Given the description of an element on the screen output the (x, y) to click on. 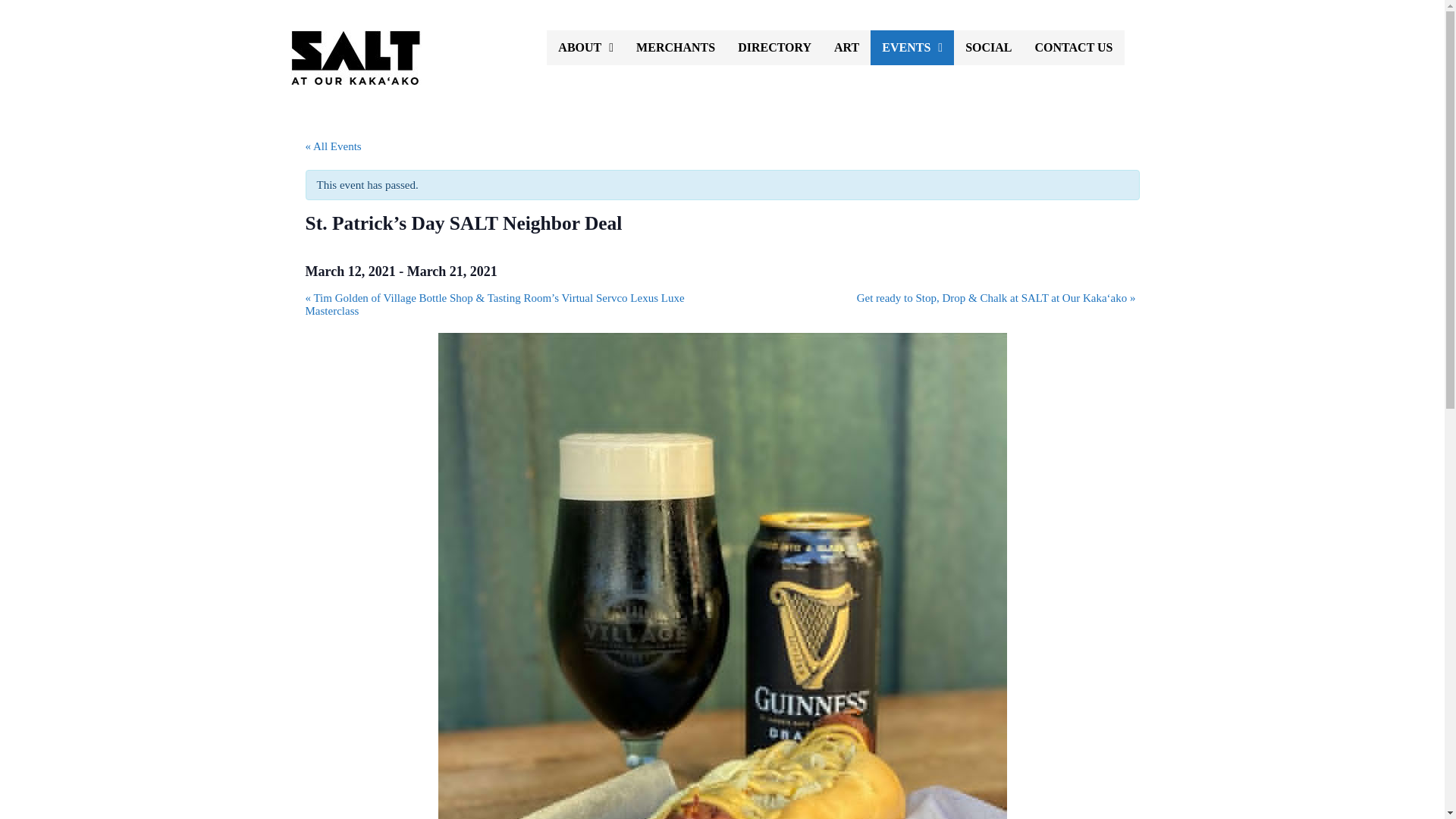
CONTACT US (1073, 47)
EVENTS (911, 47)
ABOUT (585, 47)
MERCHANTS (675, 47)
DIRECTORY (774, 47)
SOCIAL (988, 47)
ART (846, 47)
